Given the description of an element on the screen output the (x, y) to click on. 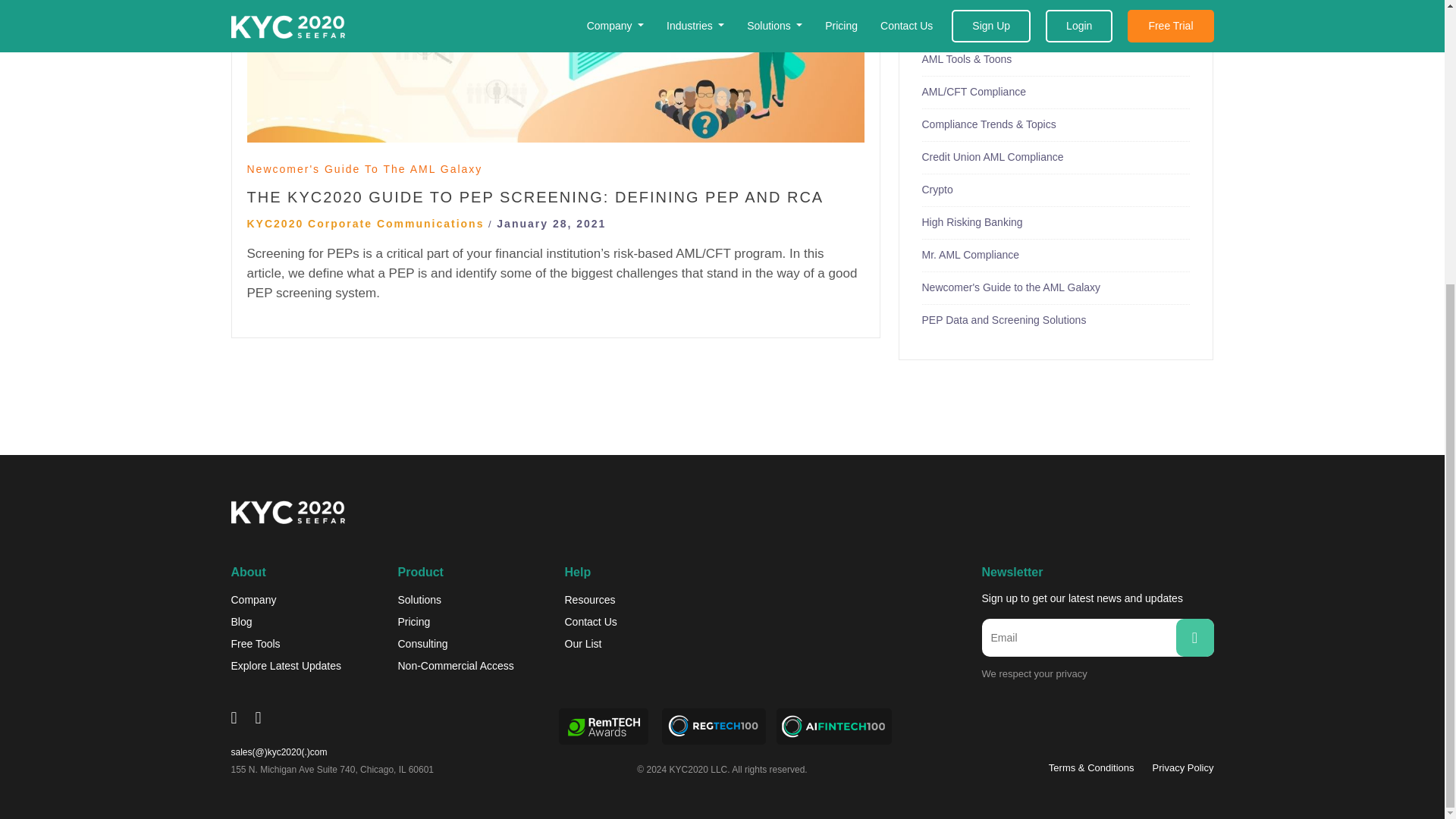
kyc-2020 (286, 512)
Remtech-Awards (604, 726)
